Given the description of an element on the screen output the (x, y) to click on. 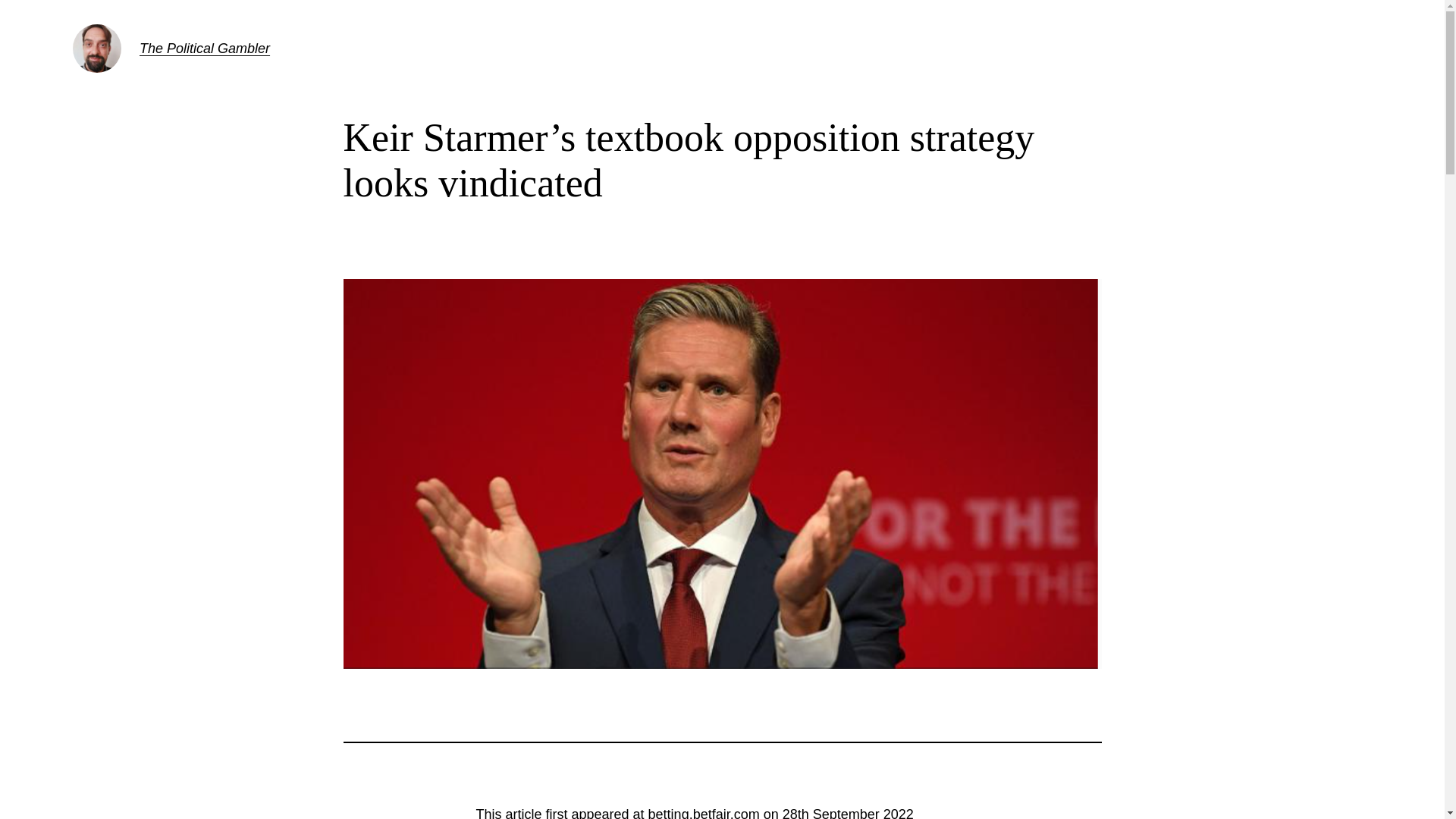
The Political Gambler (204, 48)
